Given the description of an element on the screen output the (x, y) to click on. 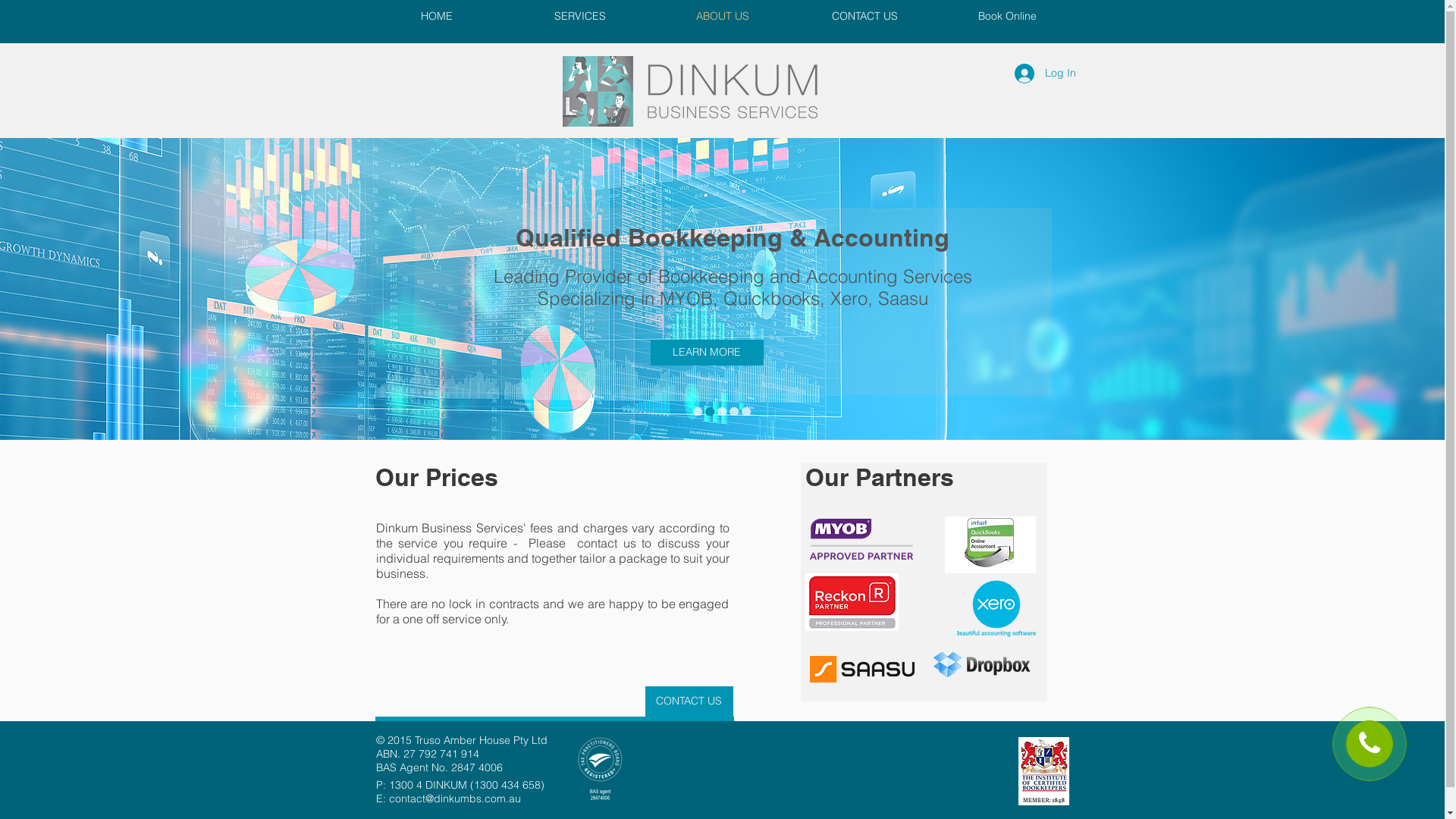
SERVICES Element type: text (579, 15)
ABOUT US Element type: text (721, 15)
LEARN MORE Element type: text (706, 352)
HOME Element type: text (436, 15)
CONTACT US Element type: text (688, 701)
contact@dinkumbs.com.au Element type: text (454, 798)
Site Search Element type: hover (1017, 56)
qb_online_accountant_logo_10818850_1_.54468518c7dbb.jpg Element type: hover (989, 544)
CONTACT US Element type: text (864, 15)
28474006_White.png Element type: hover (599, 769)
Book Online Element type: text (1006, 15)
Log In Element type: text (1045, 73)
